Given the description of an element on the screen output the (x, y) to click on. 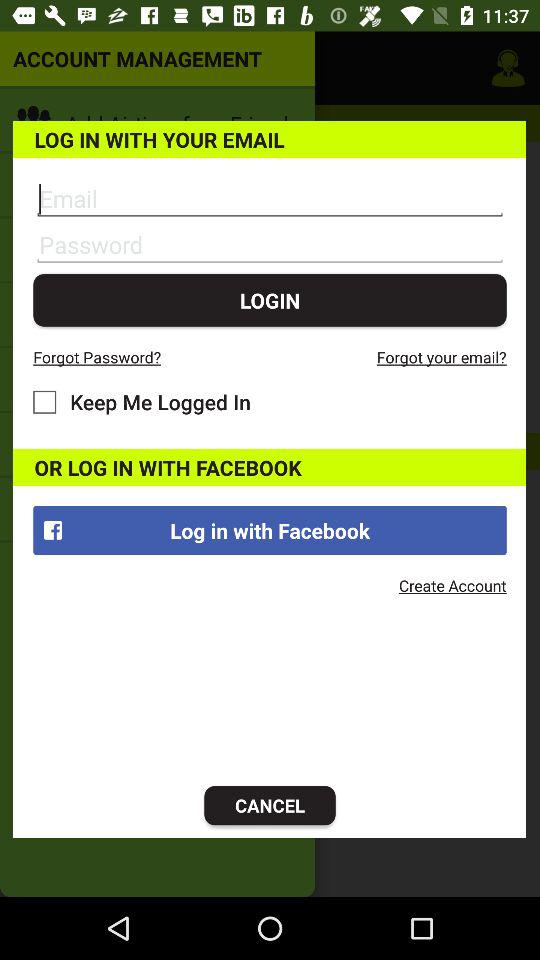
open the icon below log in with icon (269, 805)
